Given the description of an element on the screen output the (x, y) to click on. 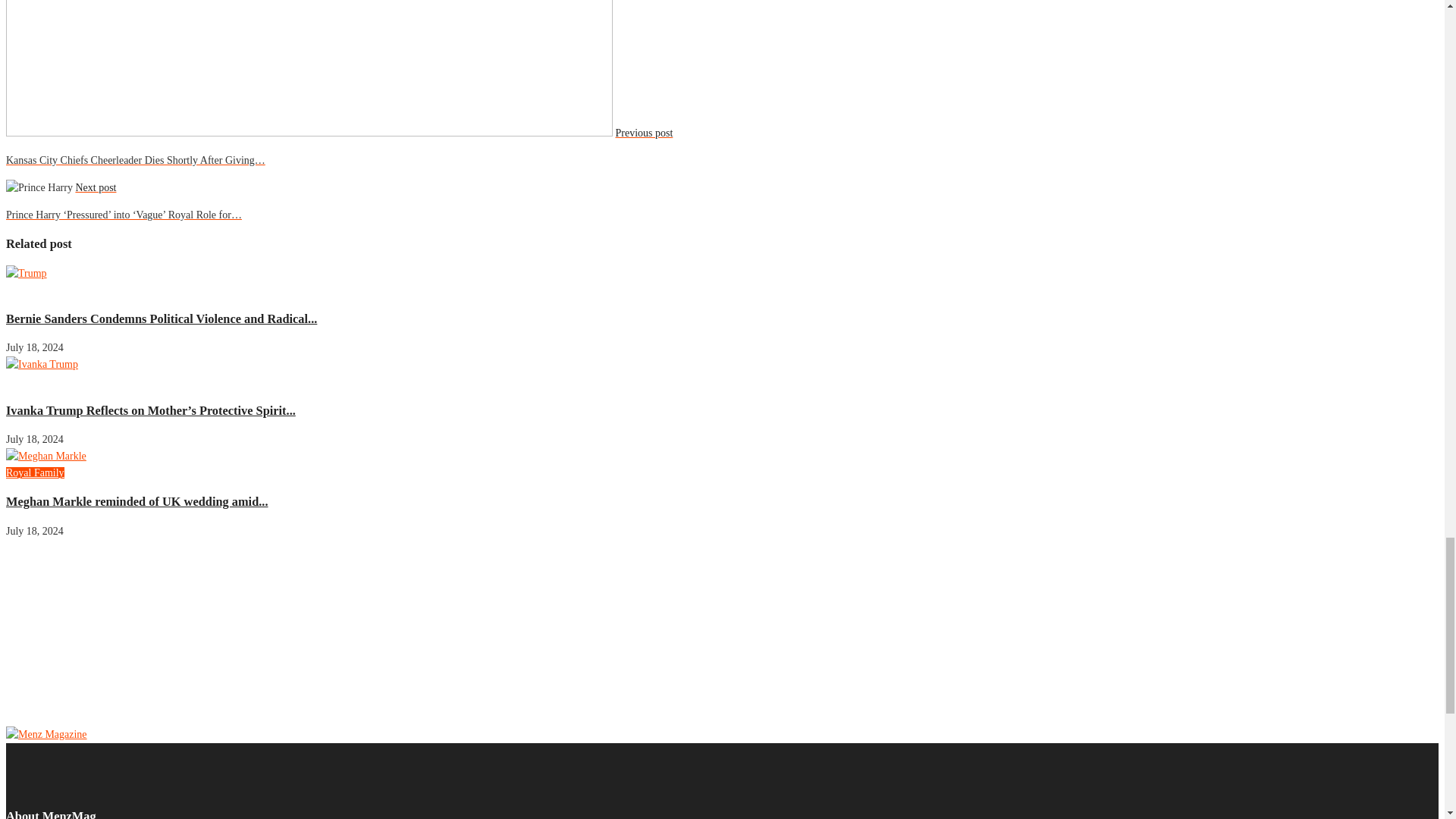
Bernie Sanders Condemns Political Violence and Radical... (161, 318)
News (17, 289)
Meghan Markle reminded of UK wedding amid... (136, 501)
News (17, 380)
Royal Family (34, 472)
